Given the description of an element on the screen output the (x, y) to click on. 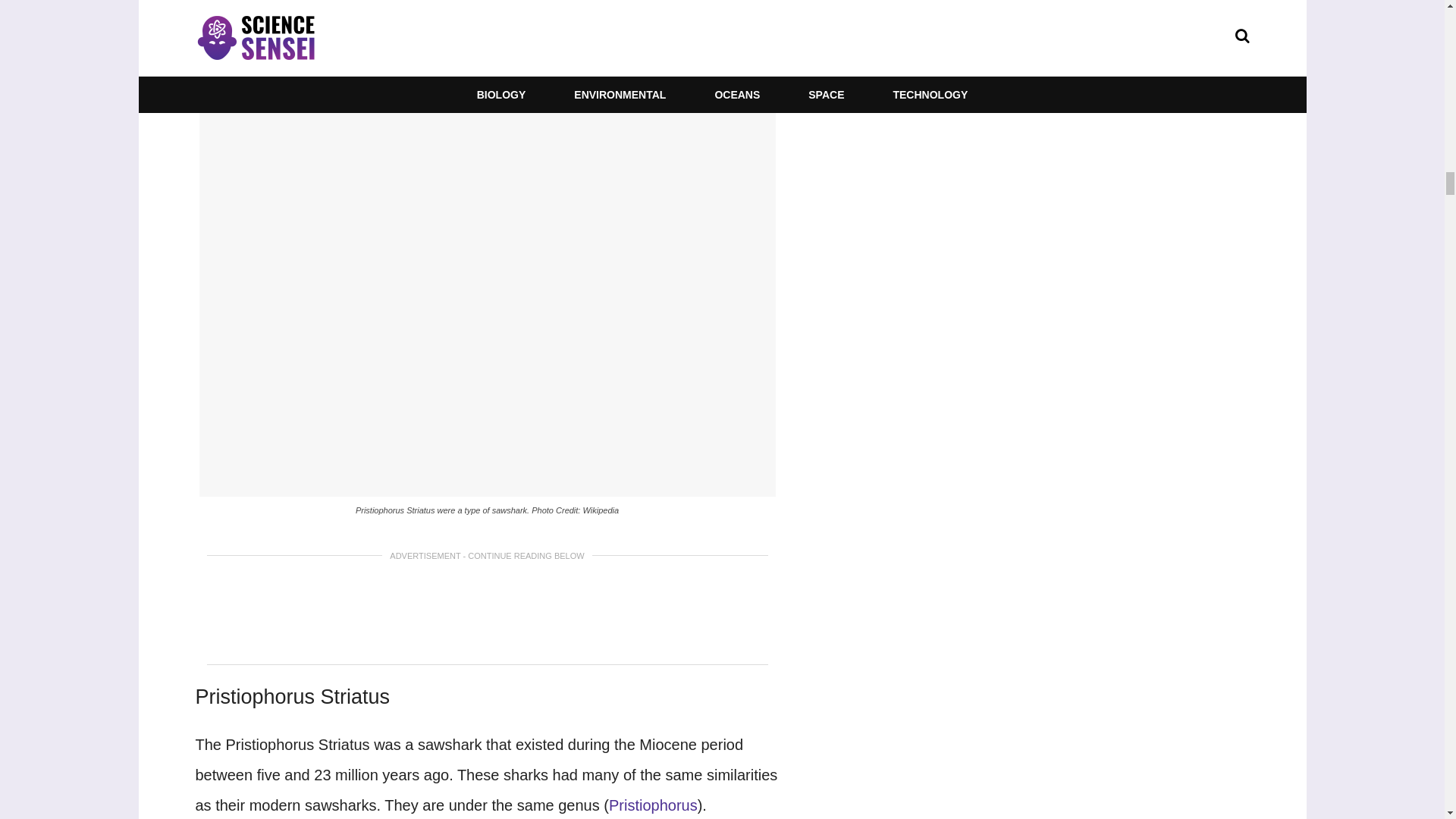
Pristiophorus (652, 805)
